Given the description of an element on the screen output the (x, y) to click on. 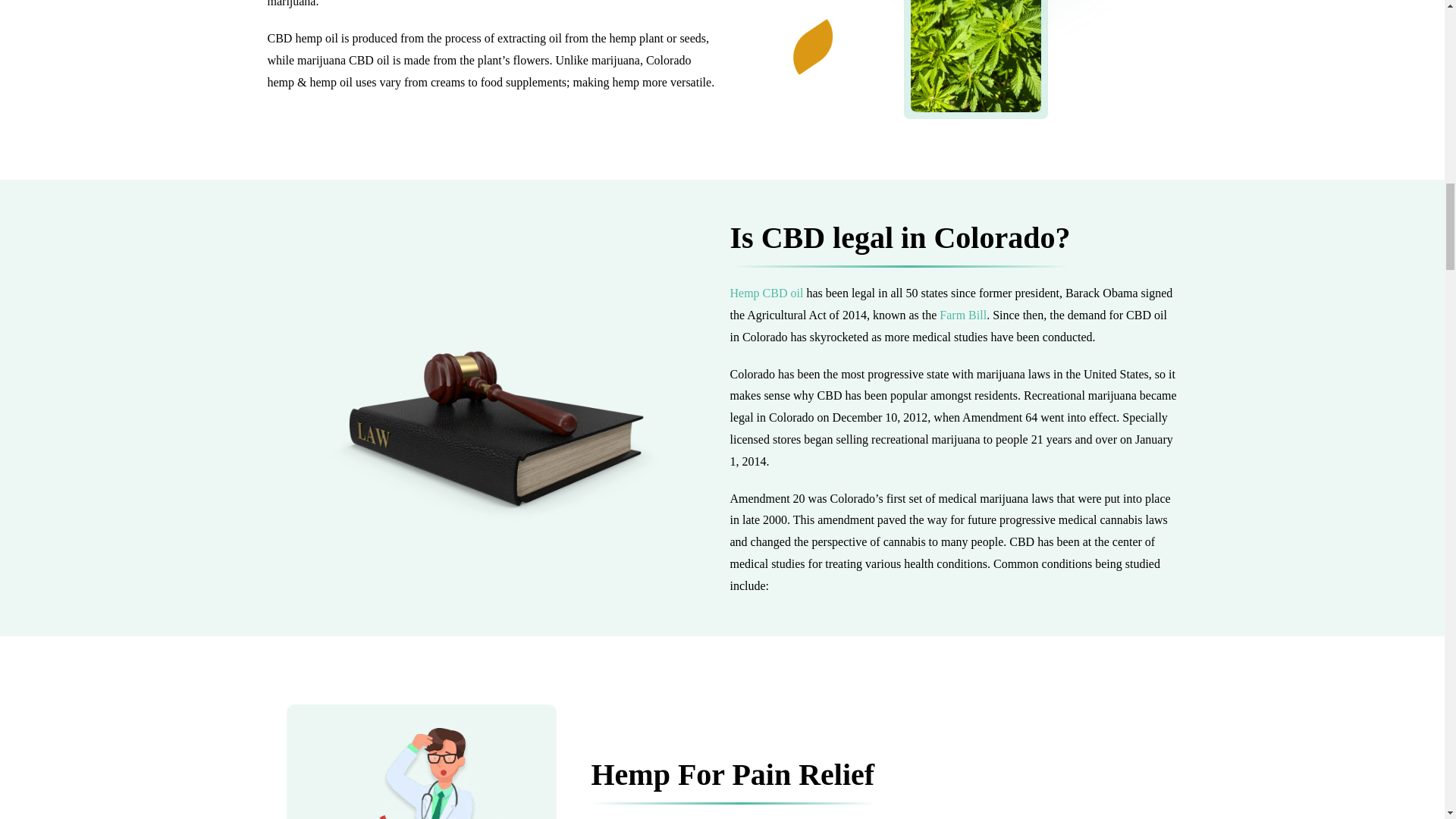
CBD Oils (766, 292)
